Given the description of an element on the screen output the (x, y) to click on. 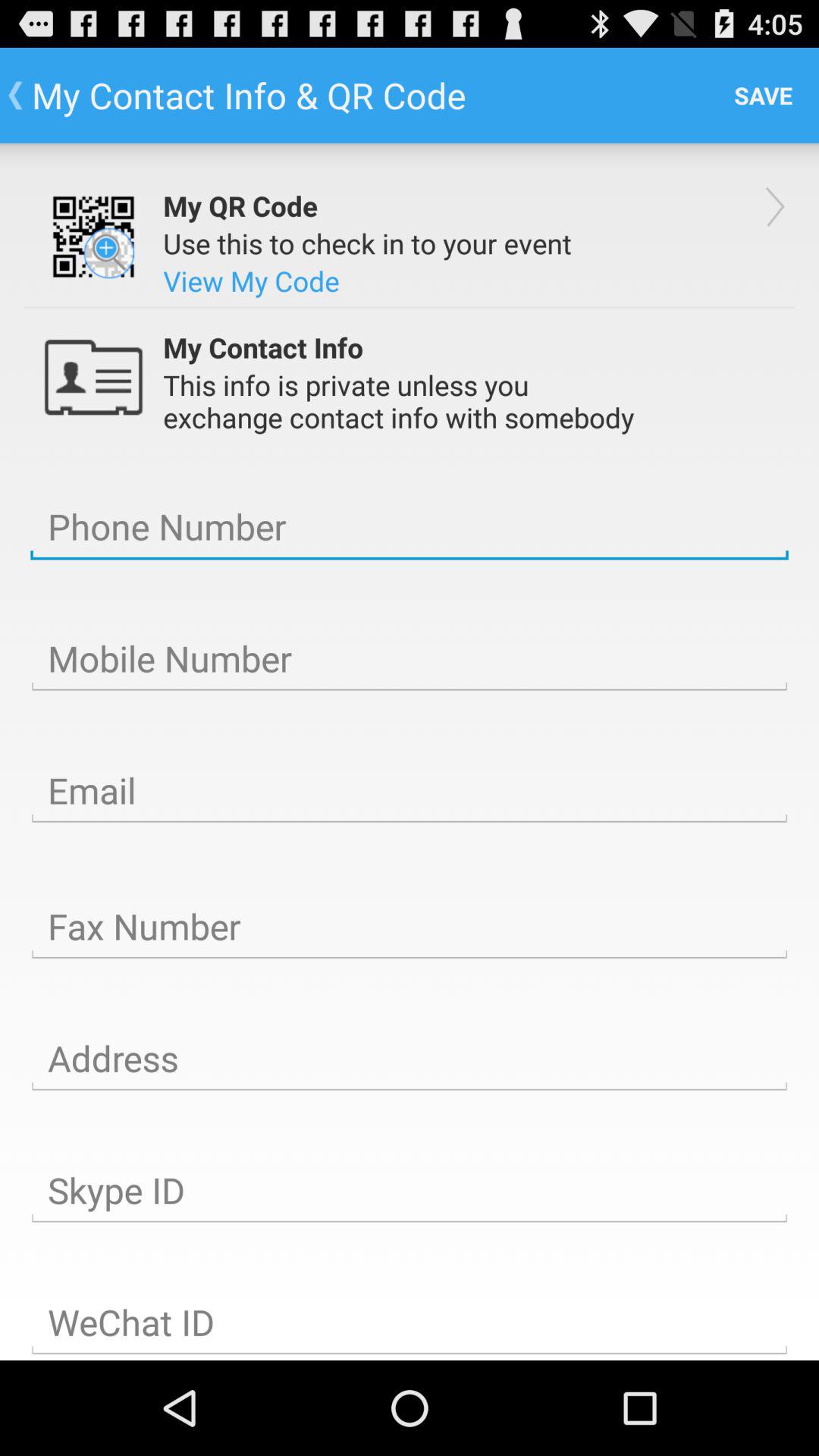
enter address (409, 1058)
